Given the description of an element on the screen output the (x, y) to click on. 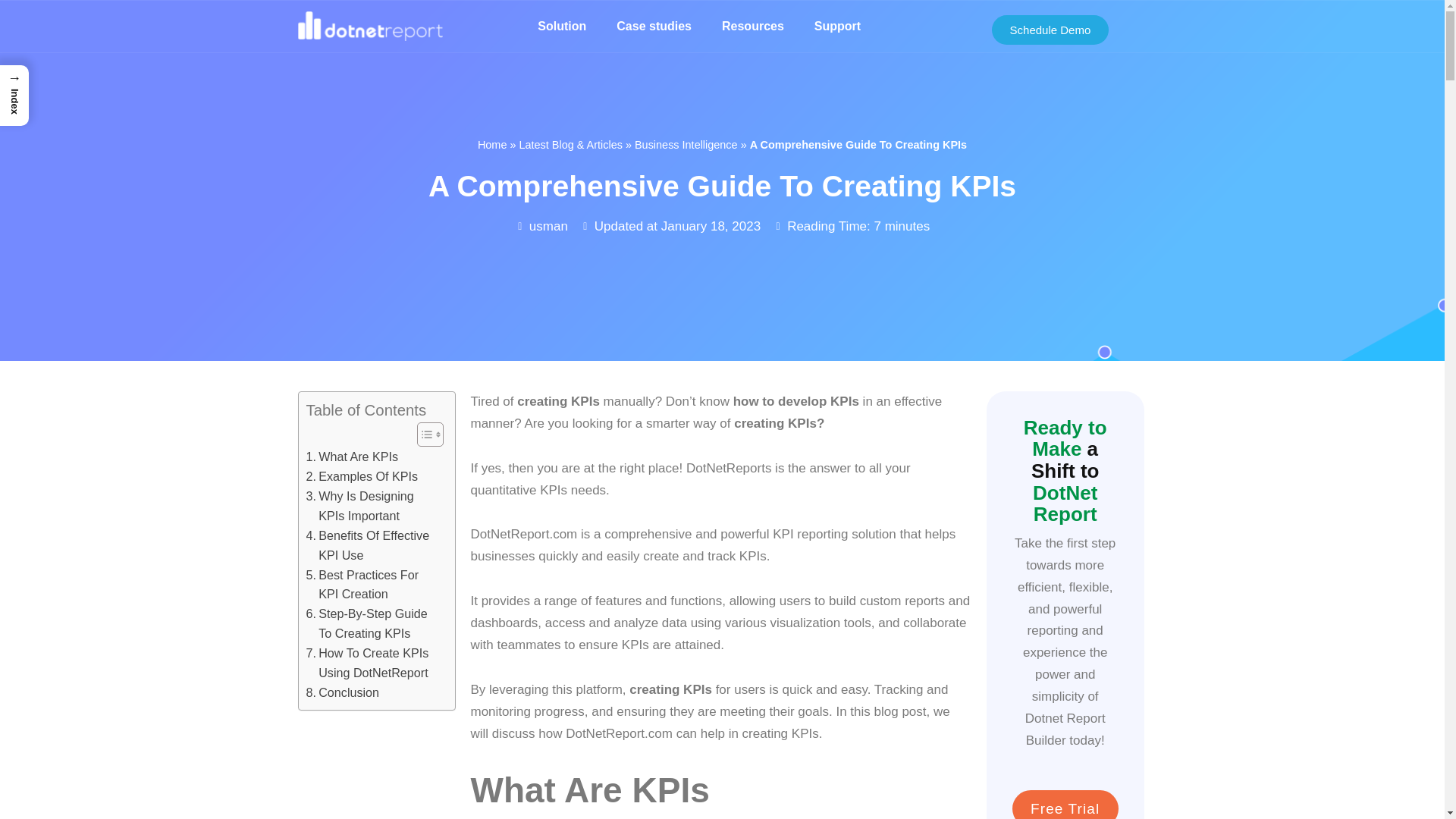
Best Practices For KPI Creation (372, 585)
Examples Of KPIs (362, 476)
Step-By-Step Guide To Creating KPIs (372, 623)
Skip to content (11, 31)
What Are KPIs (351, 456)
How To Create KPIs Using DotNetReport (372, 663)
